Given the description of an element on the screen output the (x, y) to click on. 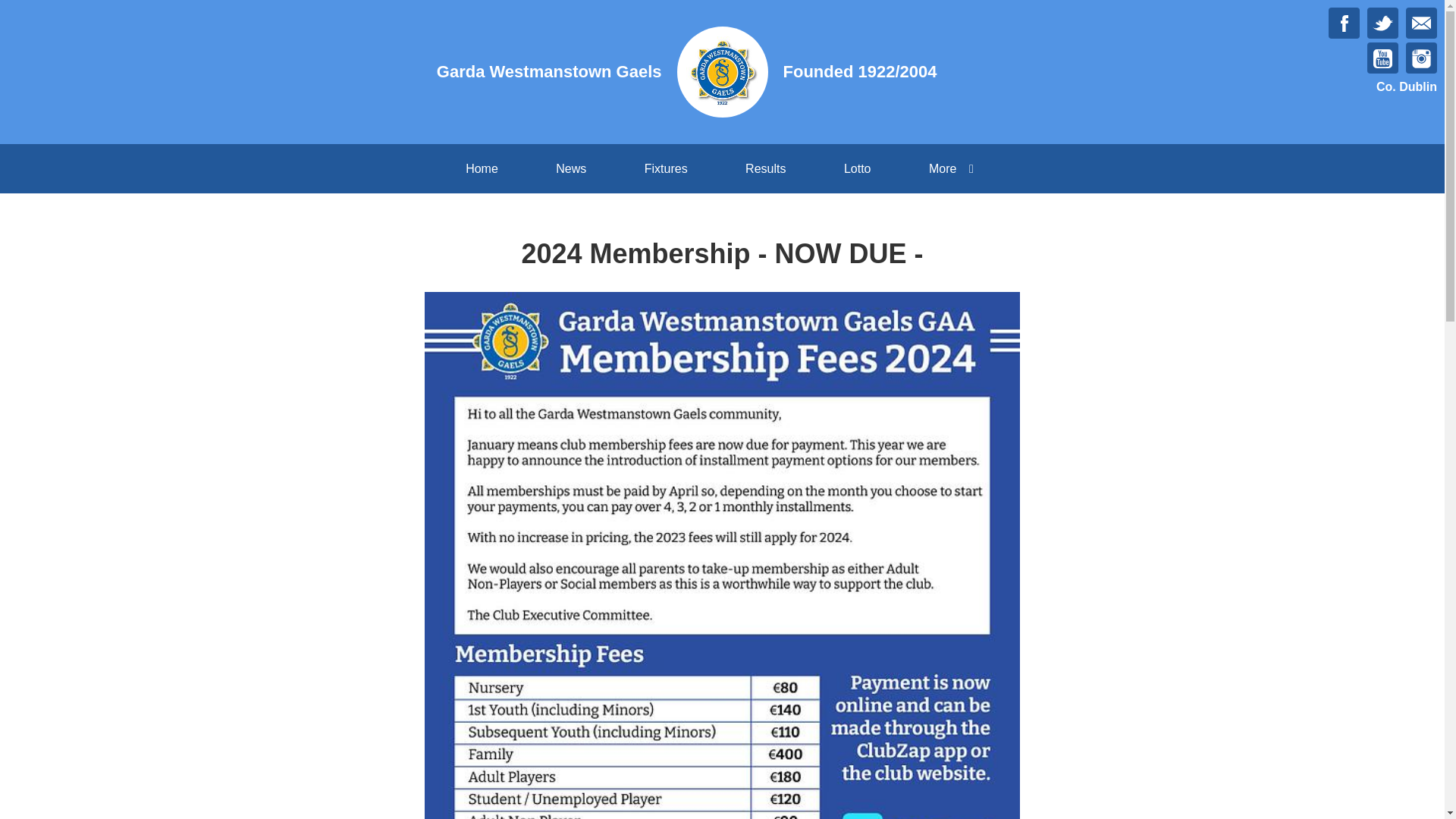
News (570, 168)
More (953, 168)
Twitter (1382, 22)
Lotto (857, 168)
Home (481, 168)
Email (1421, 22)
YouTube (1382, 57)
Instagram (1421, 57)
Facebook (1343, 22)
Fixtures (665, 168)
Results (765, 168)
